Given the description of an element on the screen output the (x, y) to click on. 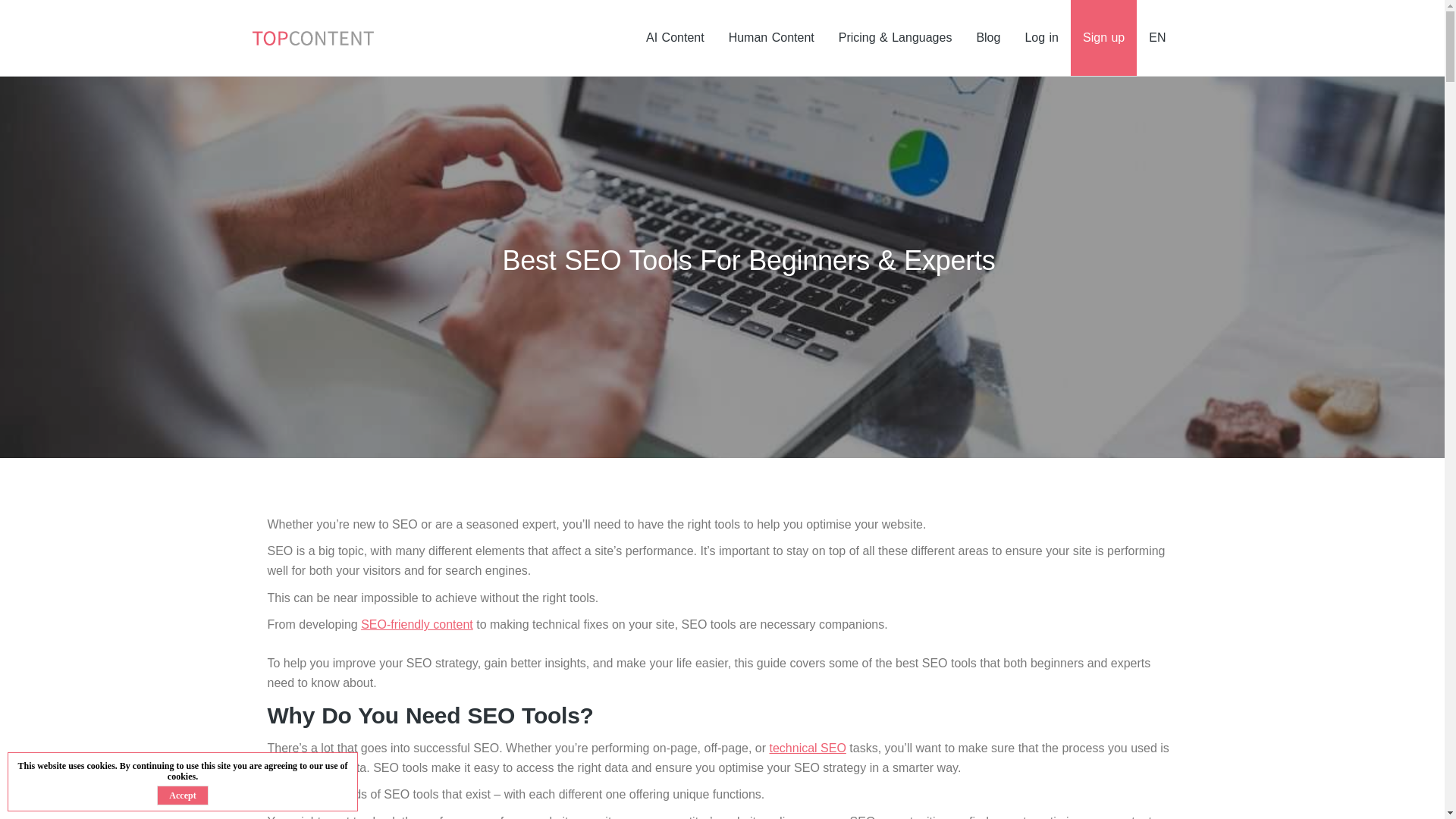
Human Content (771, 38)
AI Content (675, 38)
